Given the description of an element on the screen output the (x, y) to click on. 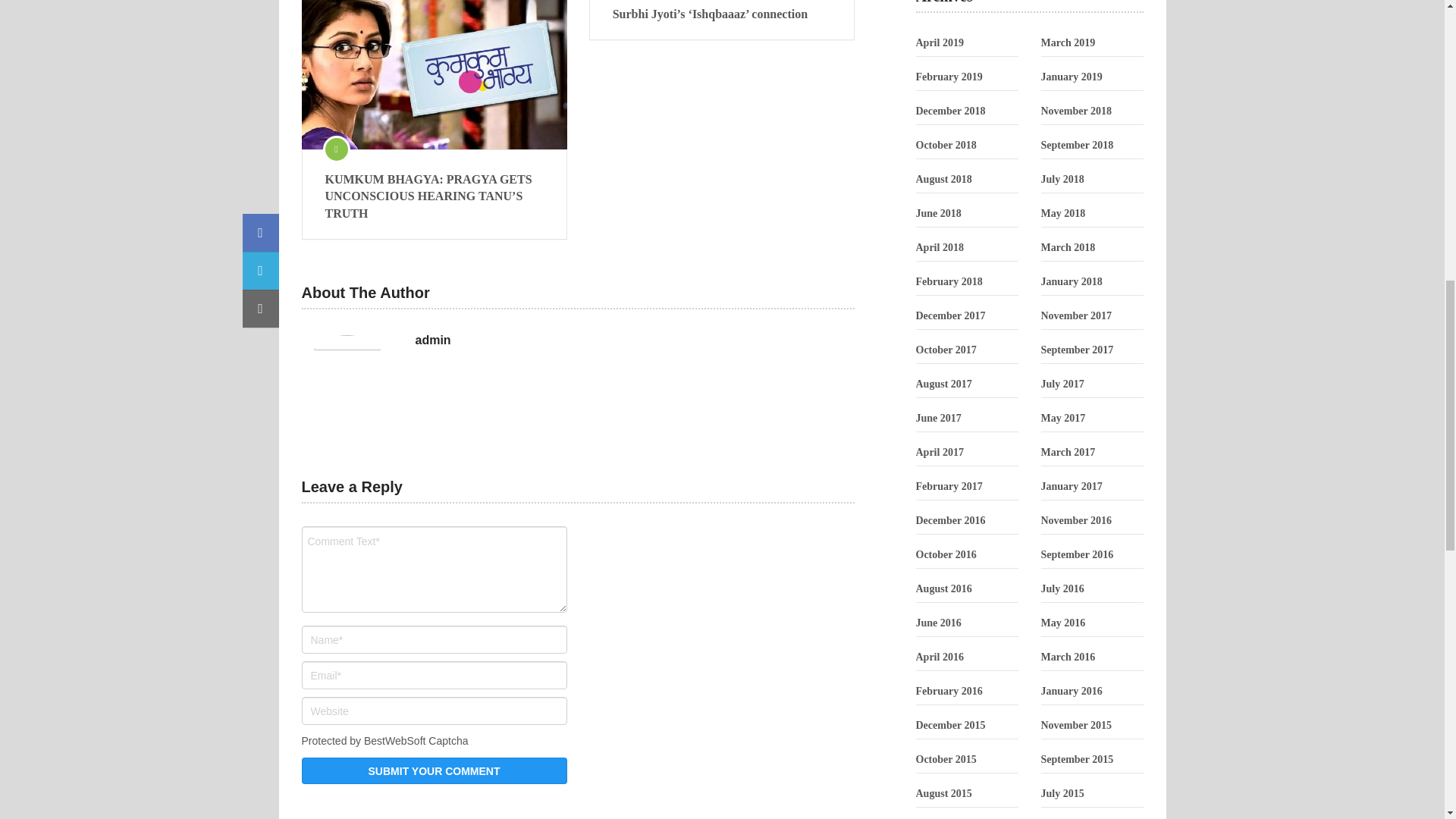
admin (432, 340)
Submit Your Comment (434, 770)
Submit Your Comment (434, 770)
